Given the description of an element on the screen output the (x, y) to click on. 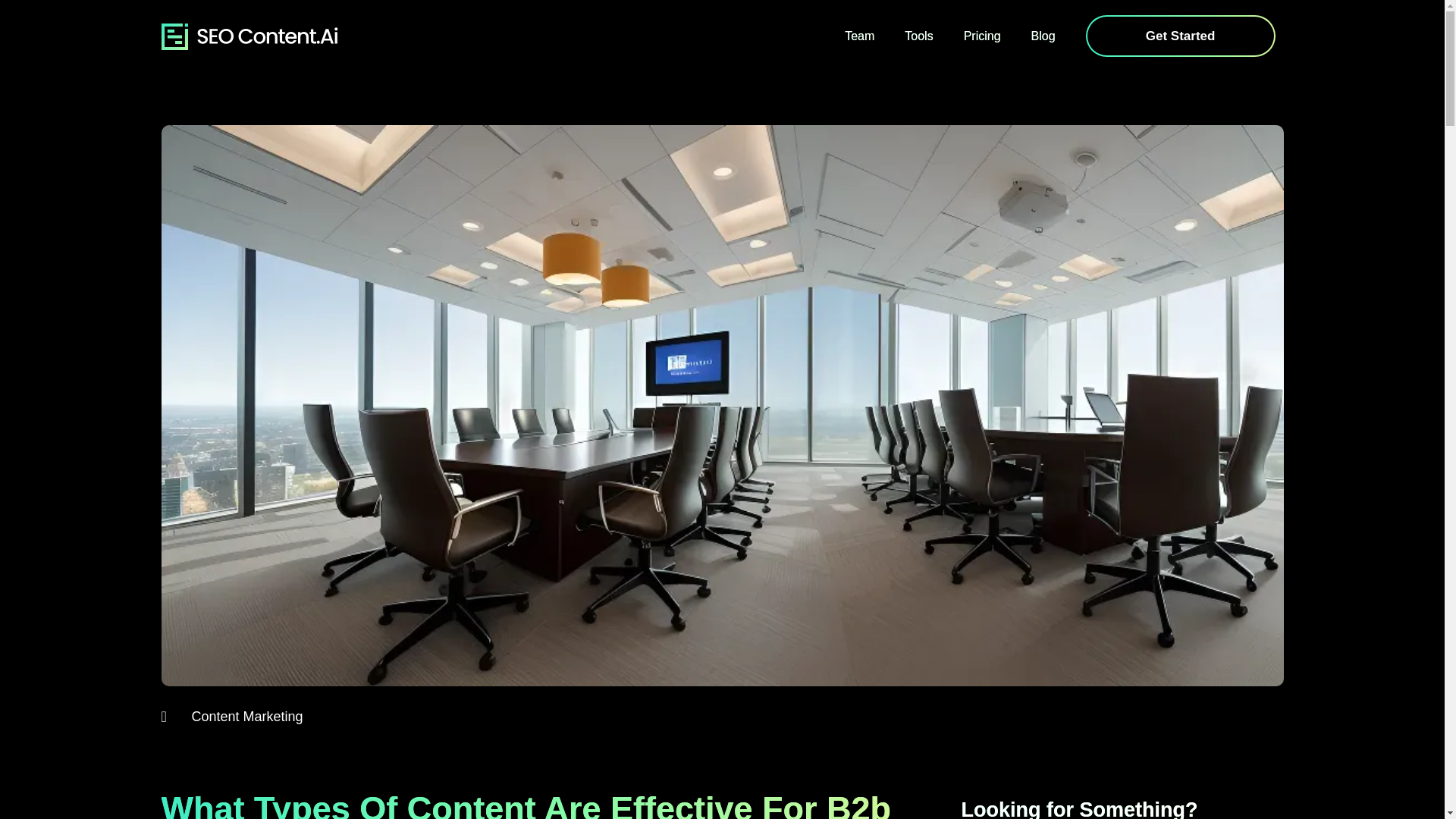
Team (859, 35)
Get Started (1180, 35)
Tools (918, 35)
Content Marketing (246, 716)
Blog (1043, 35)
Pricing (982, 35)
